Given the description of an element on the screen output the (x, y) to click on. 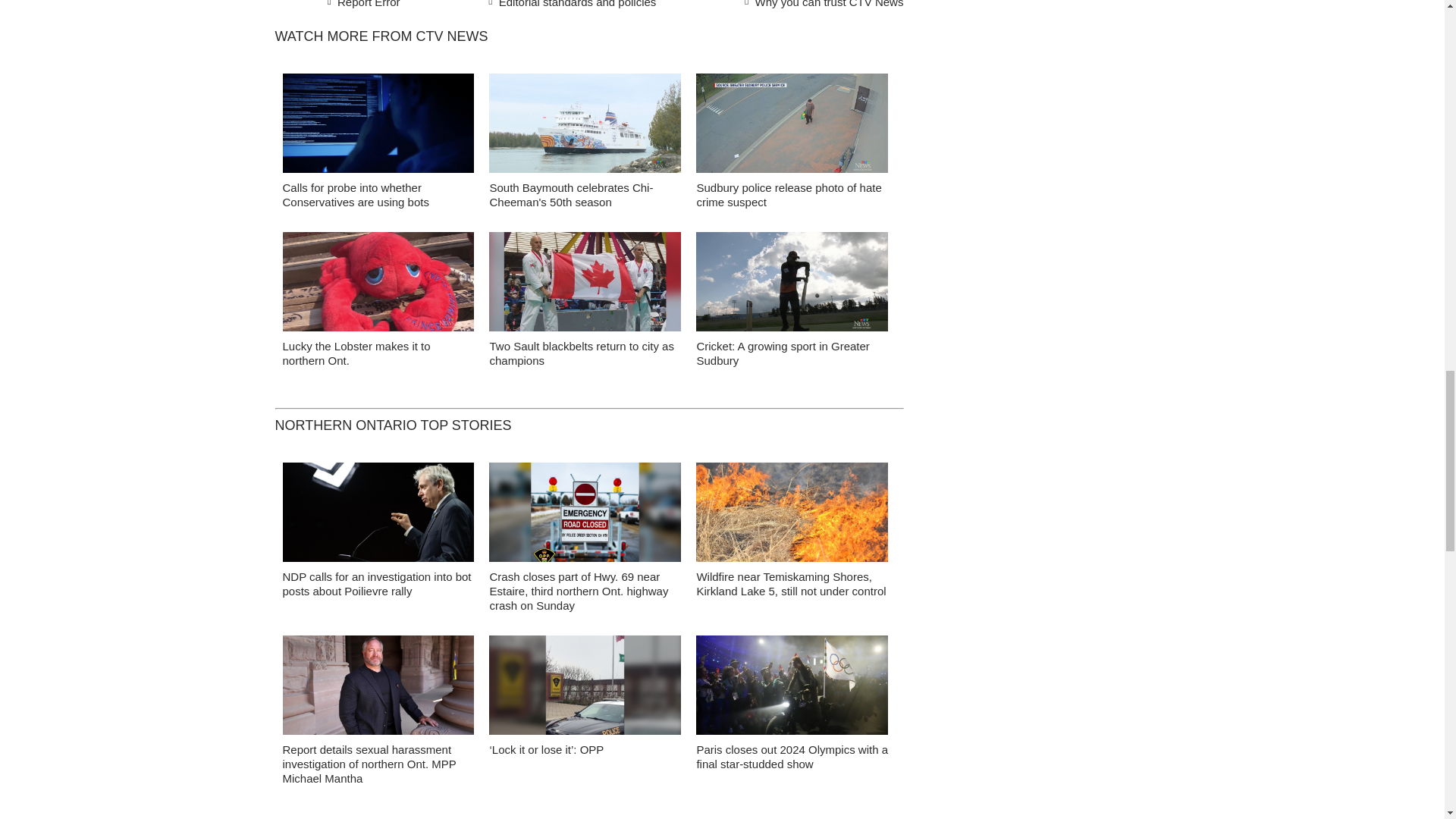
Two Sault blackbelts return to city as champions (580, 352)
South Baymouth celebrates Chi-Cheeman's 50th season (570, 194)
Lucky the Lobster makes it to northern Ont. (355, 352)
false (791, 122)
false (378, 122)
false (585, 281)
false (791, 281)
Report Error (363, 5)
Editorial standards and policies (569, 5)
Calls for probe into whether Conservatives are using bots (355, 194)
